Given the description of an element on the screen output the (x, y) to click on. 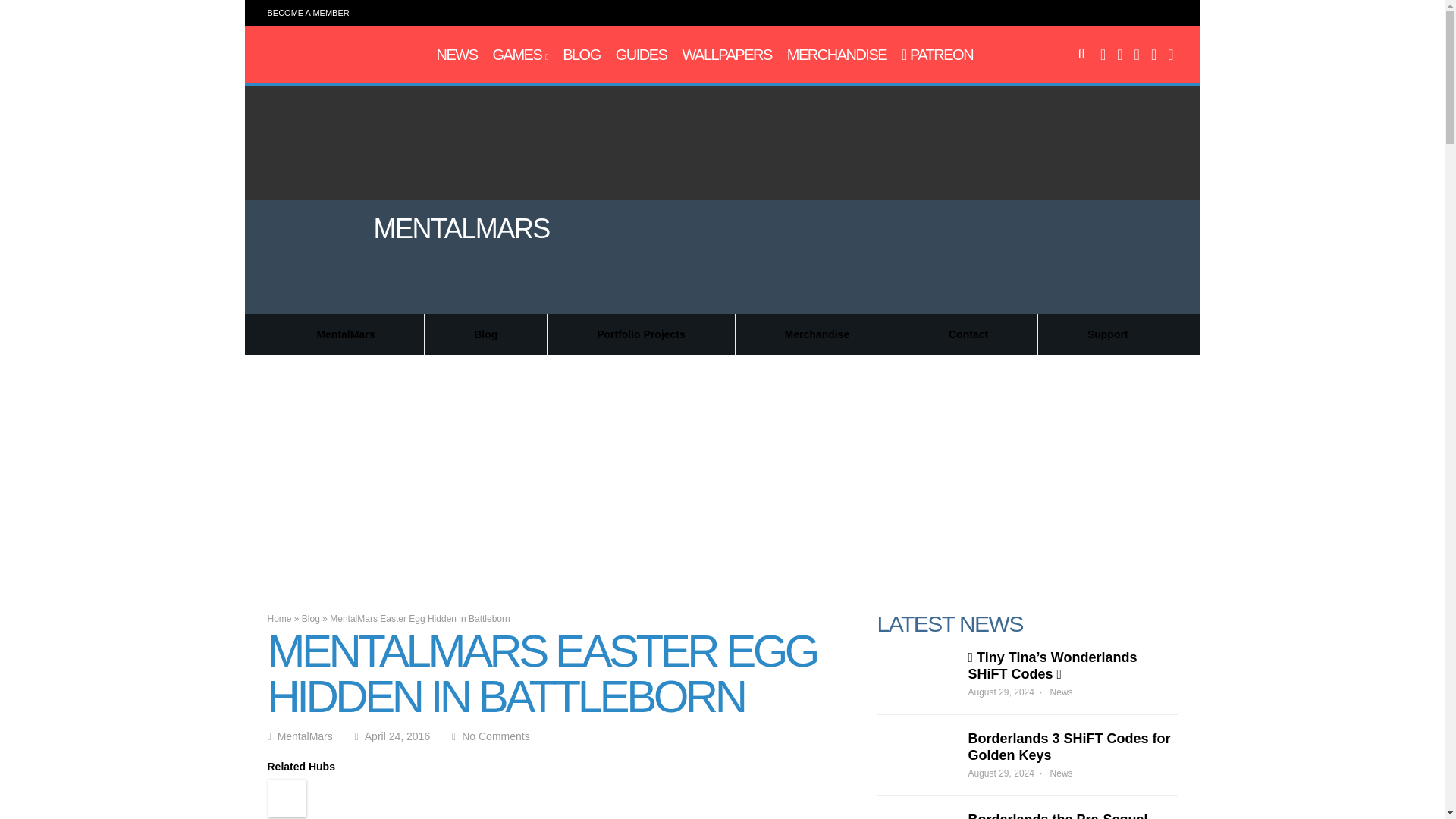
PATREON (936, 54)
MERCHANDISE (836, 54)
WALLPAPERS (726, 54)
News (456, 54)
Blog (580, 54)
Merchandise (836, 54)
MentalMars (331, 62)
BECOME A MEMBER (307, 13)
GAMES (520, 54)
GUIDES (640, 54)
